Given the description of an element on the screen output the (x, y) to click on. 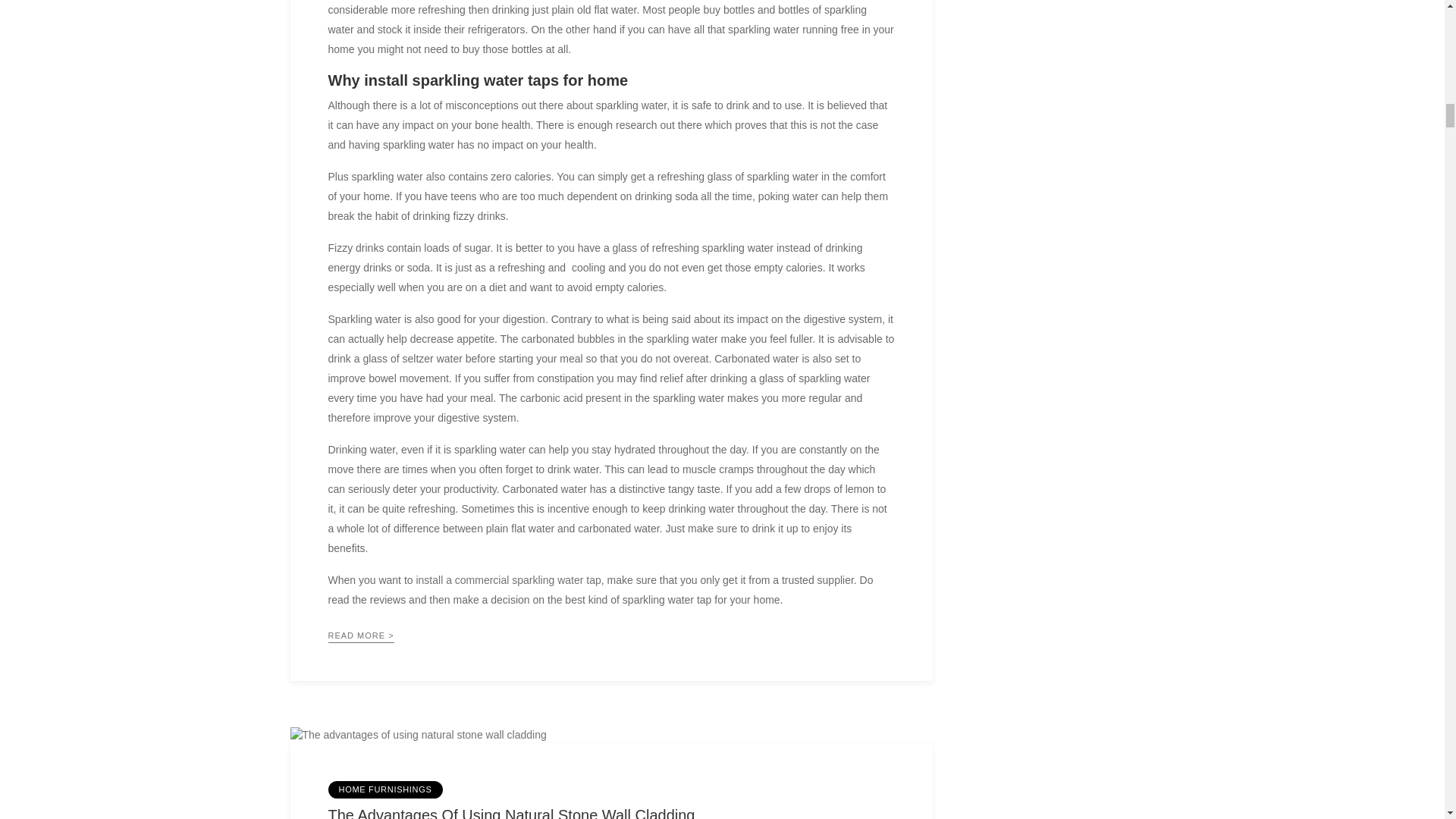
install a commercial sparkling water tap (506, 580)
